Given the description of an element on the screen output the (x, y) to click on. 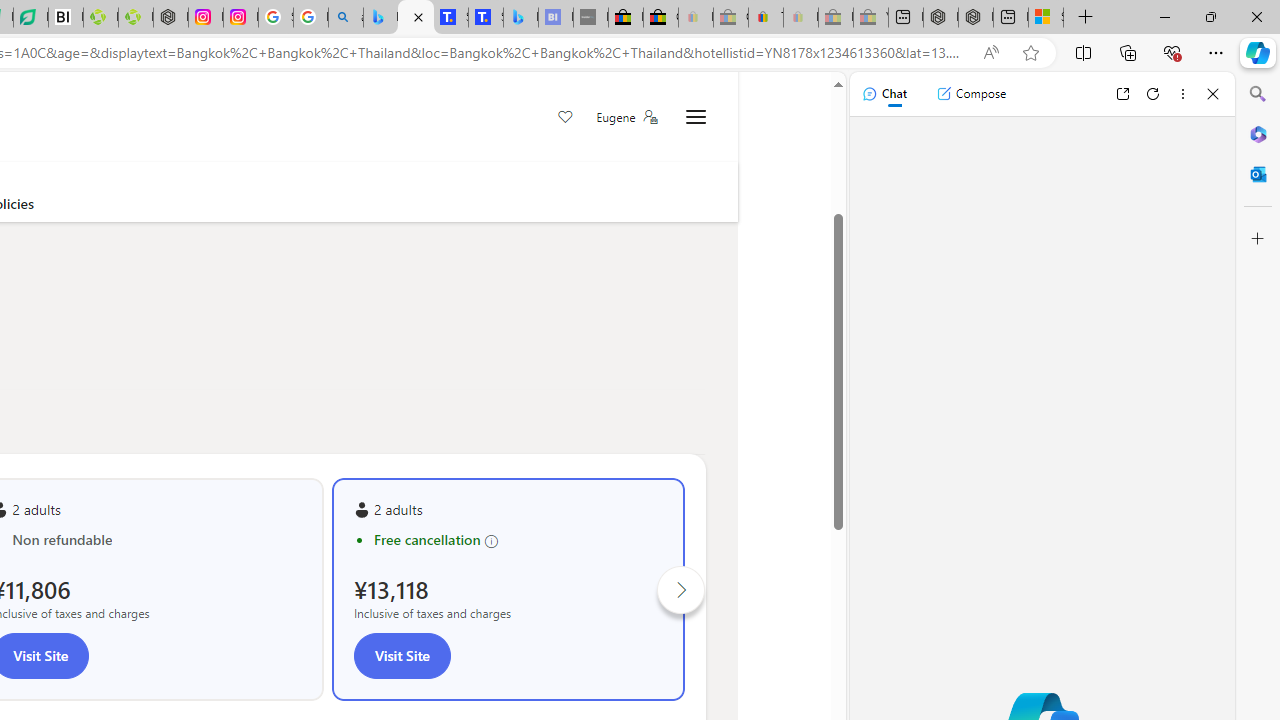
Free cancellation (518, 540)
Eugene (626, 117)
Chat (884, 93)
Trip.com (625, 108)
alabama high school quarterback dies - Search (346, 17)
Visit Site (401, 655)
Threats and offensive language policy | eBay (765, 17)
